Given the description of an element on the screen output the (x, y) to click on. 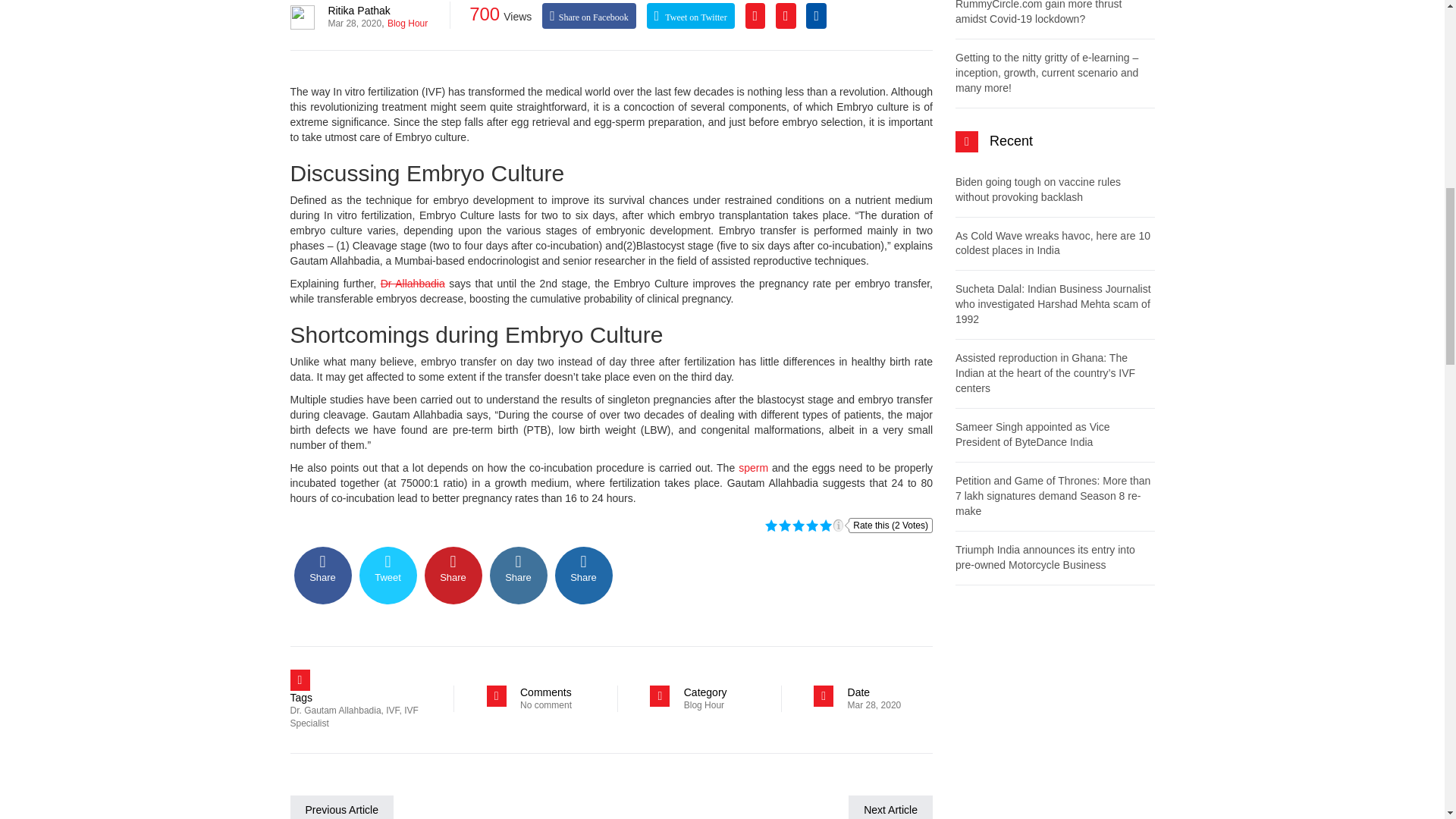
Share on Pinterest (453, 574)
Advertisement (1054, 713)
Share on LinkedIn (518, 574)
Share on Digg (583, 574)
Share on Facebook (323, 574)
Share on Twitter (387, 574)
